Given the description of an element on the screen output the (x, y) to click on. 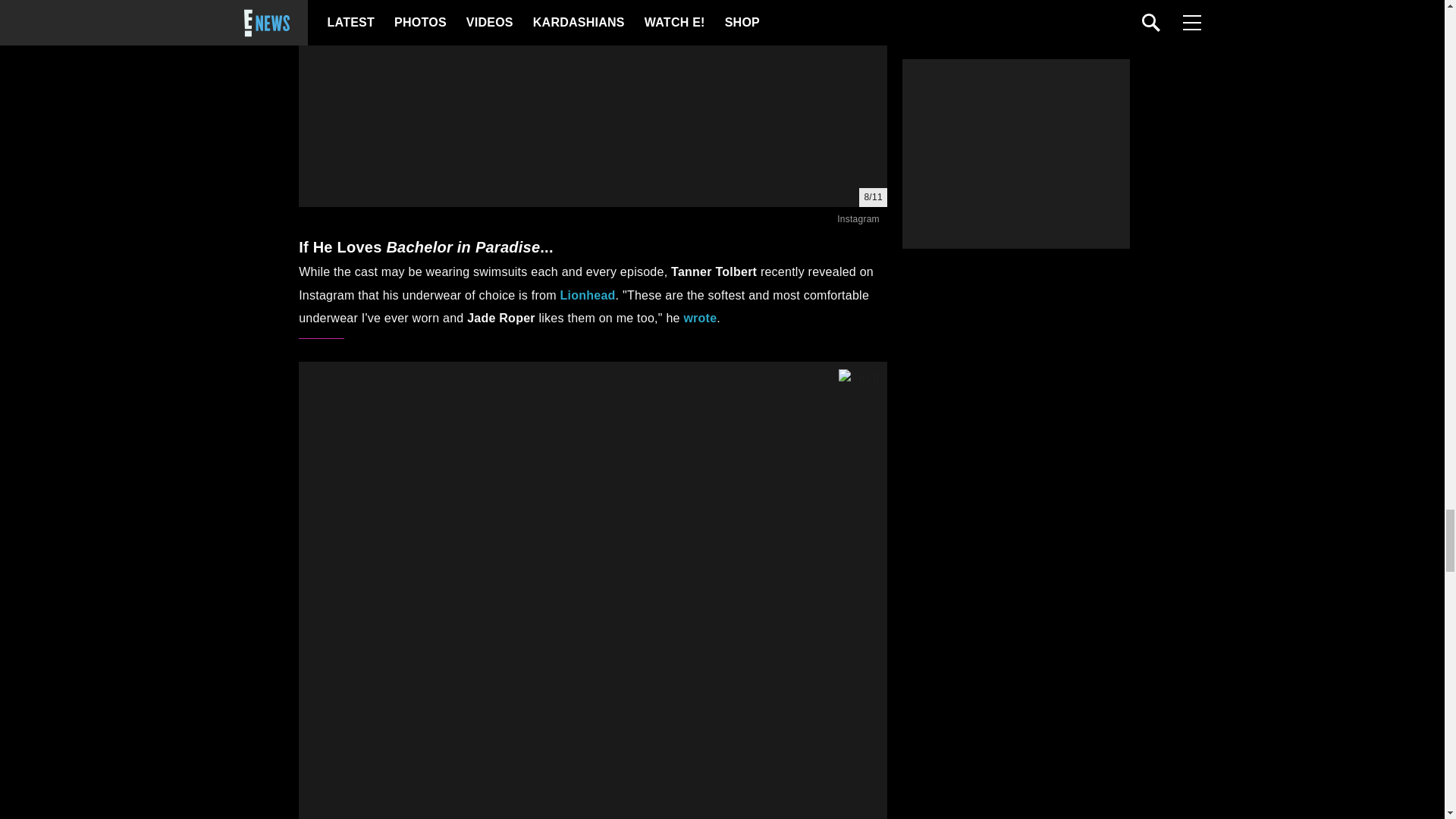
Lionhead (586, 295)
wrote (699, 318)
